Given the description of an element on the screen output the (x, y) to click on. 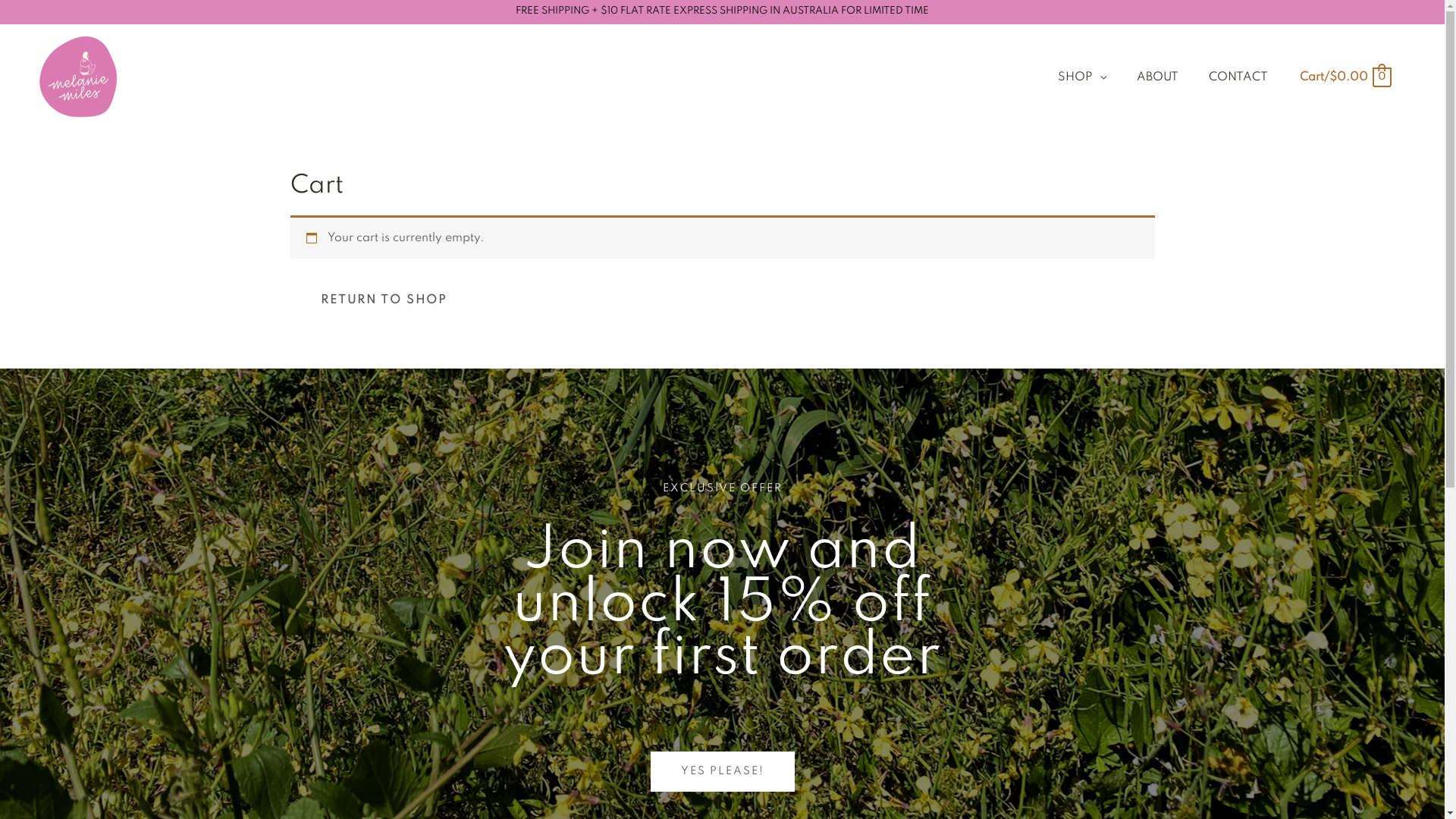
CONTACT Element type: text (1238, 76)
ABOUT Element type: text (1157, 76)
RETURN TO SHOP Element type: text (382, 299)
SHOP Element type: text (1081, 76)
YES PLEASE! Element type: text (722, 771)
Cart/$0.00 0 Element type: text (1344, 77)
